Given the description of an element on the screen output the (x, y) to click on. 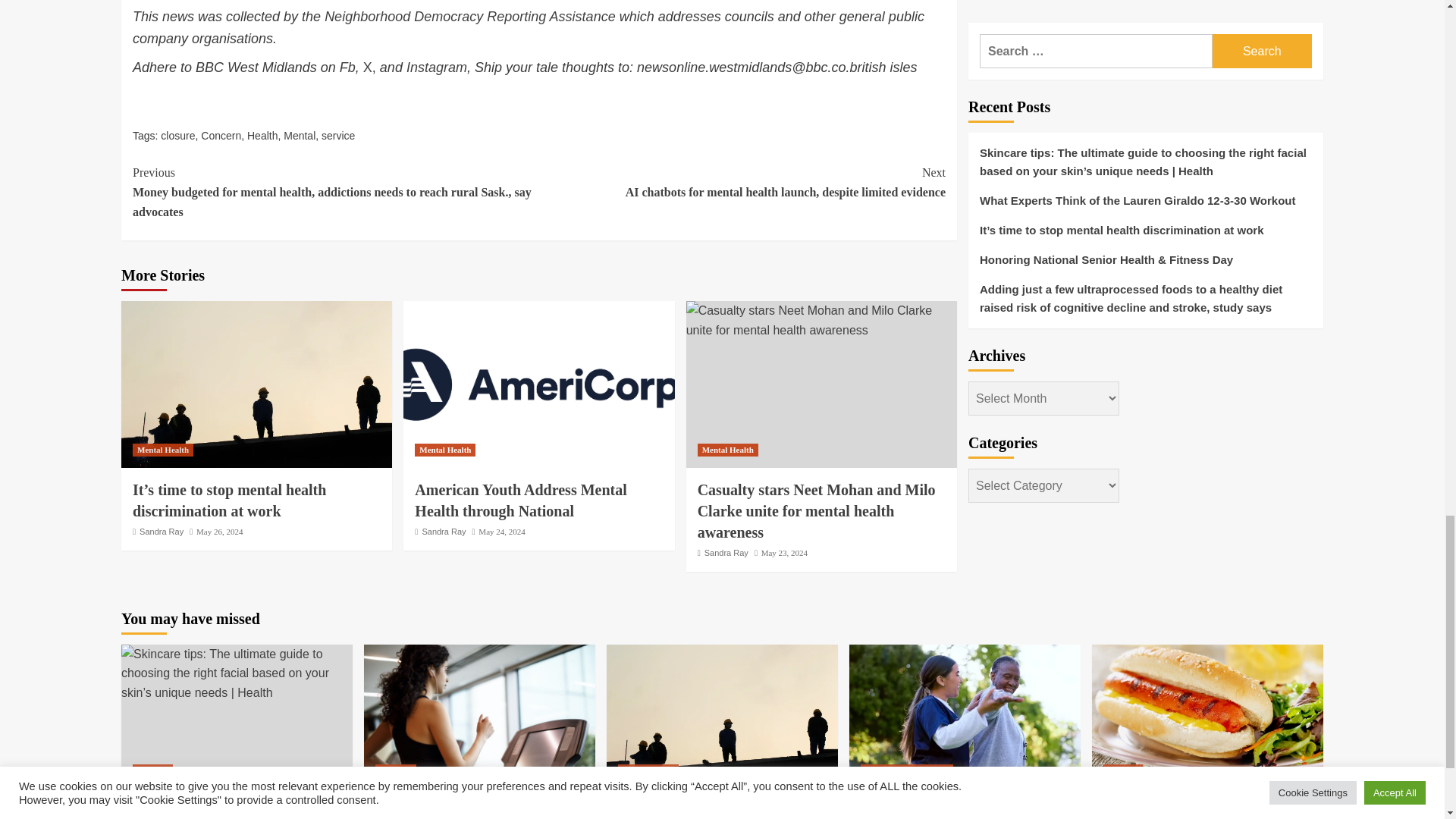
Health (262, 135)
Concern (220, 135)
Fb (347, 67)
Instagram (436, 67)
Neighborhood Democracy Reporting Assistance (469, 16)
Mental (299, 135)
closure (177, 135)
